Given the description of an element on the screen output the (x, y) to click on. 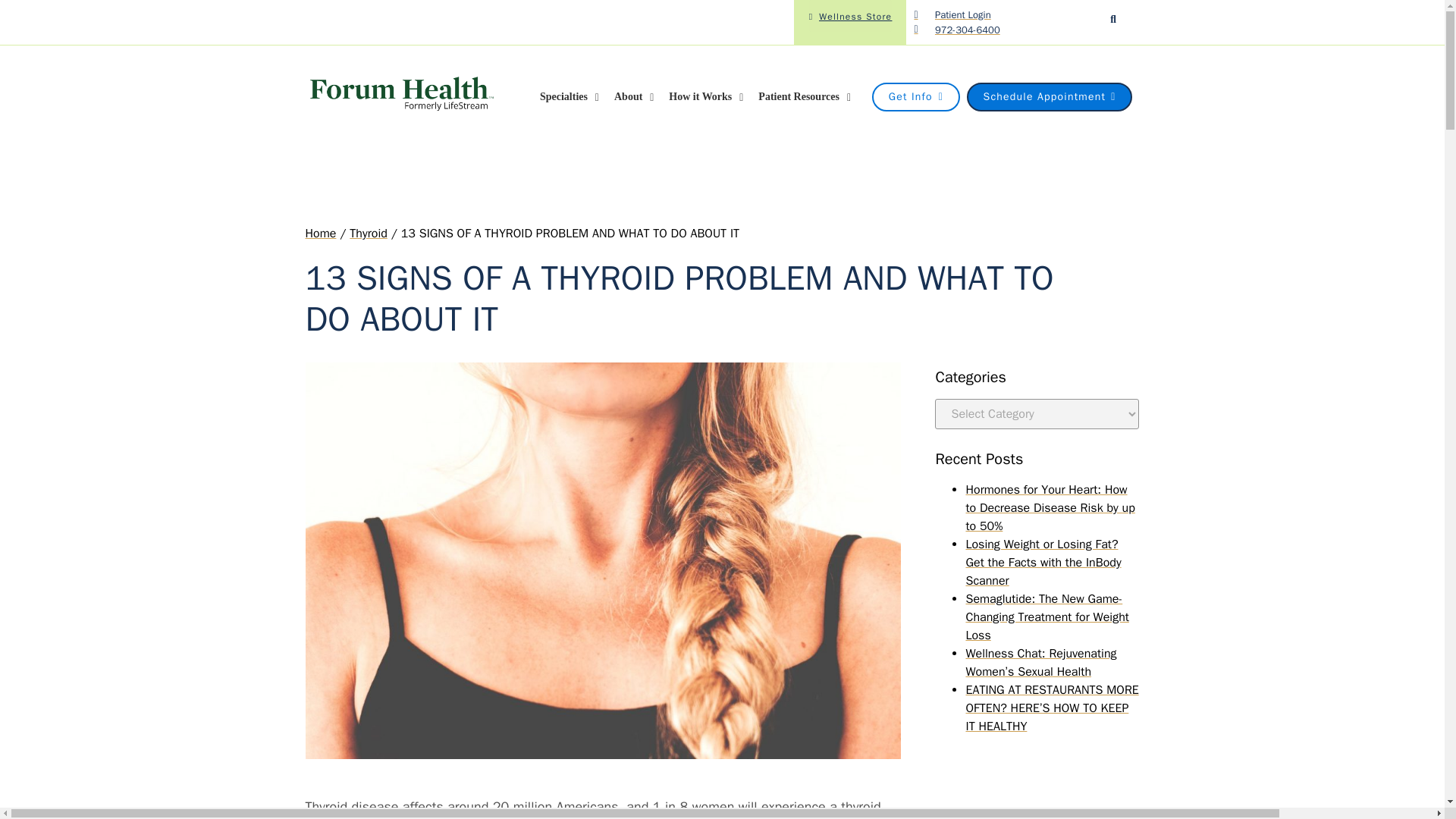
972-304-6400 (956, 29)
Go to the Thyroid category archives. (368, 233)
Patient Login (952, 14)
Go to Home (320, 233)
Wellness Store (850, 15)
